Given the description of an element on the screen output the (x, y) to click on. 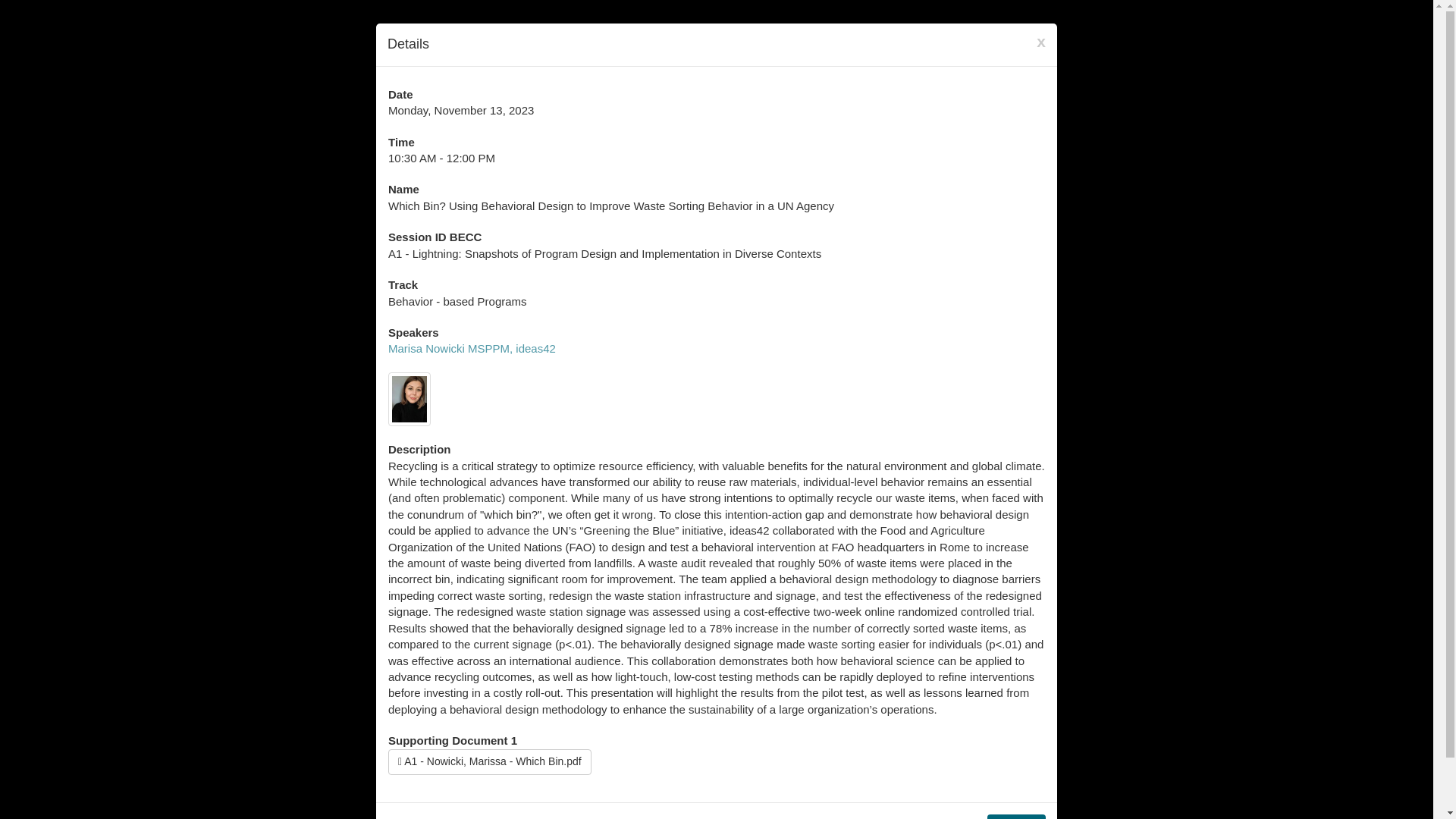
Speaker Details (472, 348)
Marisa Nowicki MSPPM, ideas42 (472, 348)
A1 - Nowicki, Marissa - Which Bin.pdf (489, 761)
Close (1016, 816)
